Given the description of an element on the screen output the (x, y) to click on. 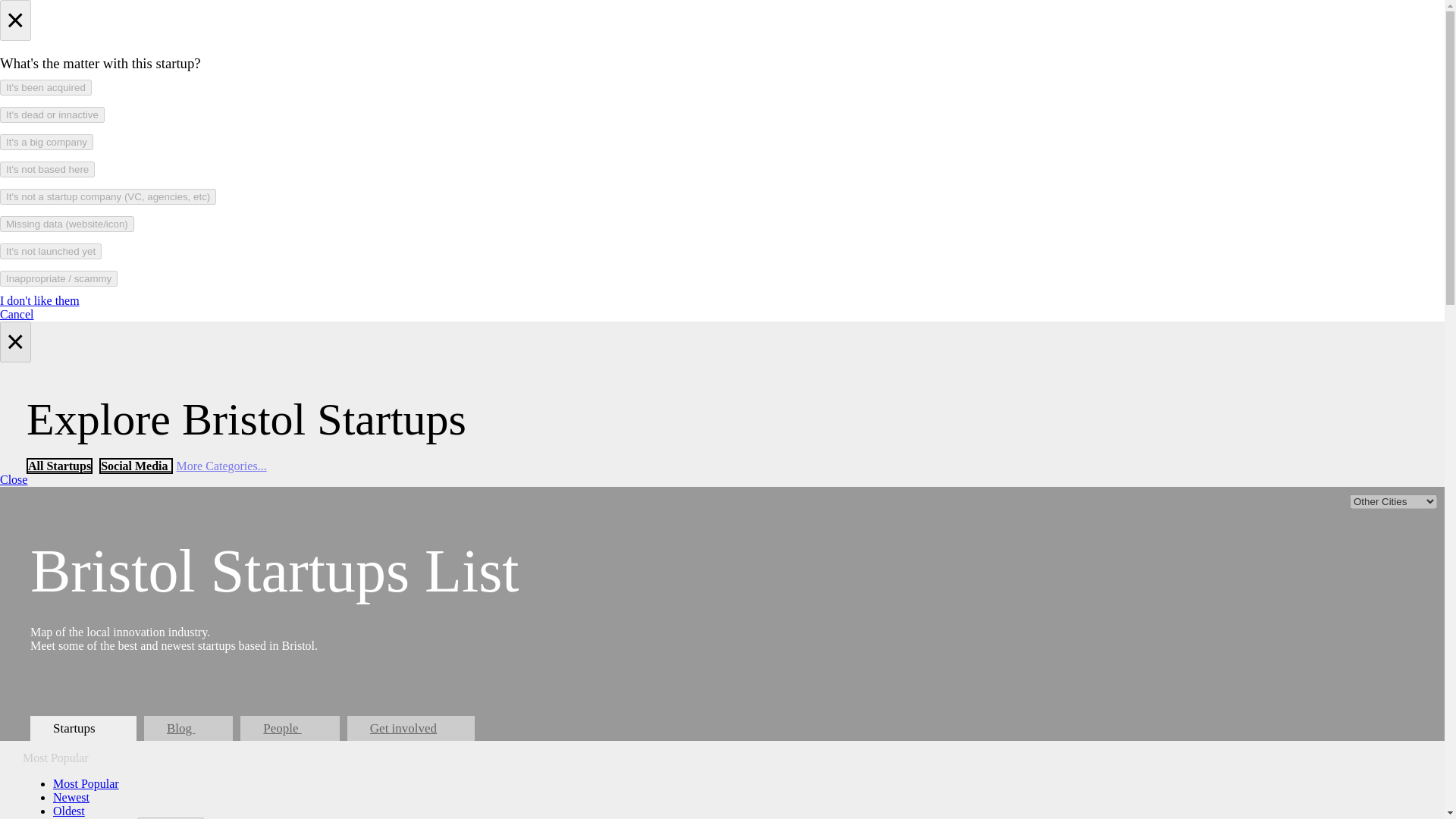
I don't like them (40, 300)
It's dead or innactive (52, 114)
It's not launched yet (50, 251)
All Startups (59, 465)
It's a big company (46, 141)
More Categories... (221, 465)
It's not based here (47, 169)
Cancel (16, 314)
It's been acquired (45, 87)
Close (13, 479)
